Given the description of an element on the screen output the (x, y) to click on. 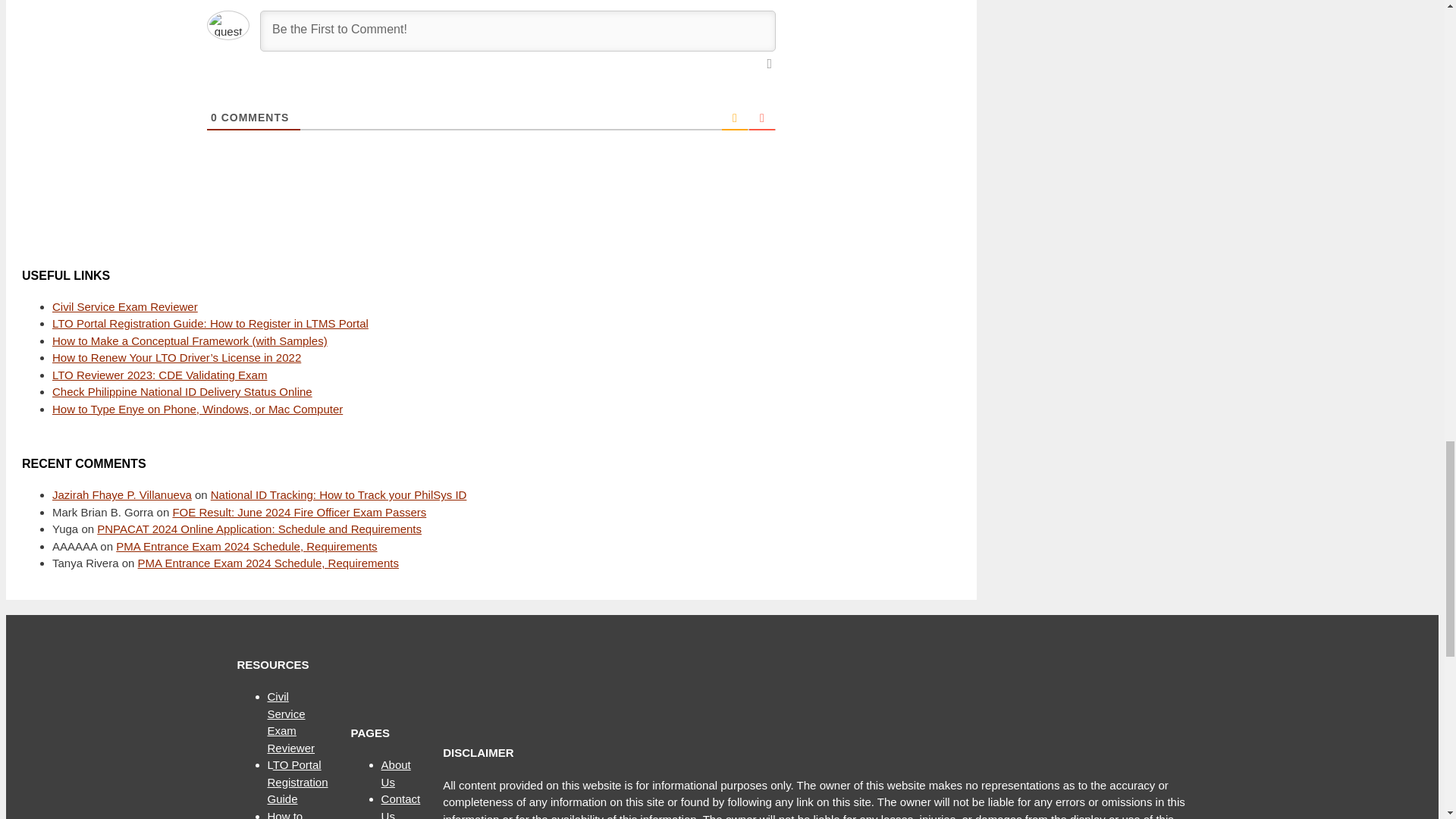
0 (213, 117)
Check Philippine National ID Delivery Status Online (182, 391)
LTO Reviewer 2023: CDE Validating Exam (159, 374)
Civil Service Exam Reviewer (125, 306)
How to Type Enye on Phone, Windows, or Mac Computer (197, 408)
Jazirah Fhaye P. Villanueva (122, 494)
